Given the description of an element on the screen output the (x, y) to click on. 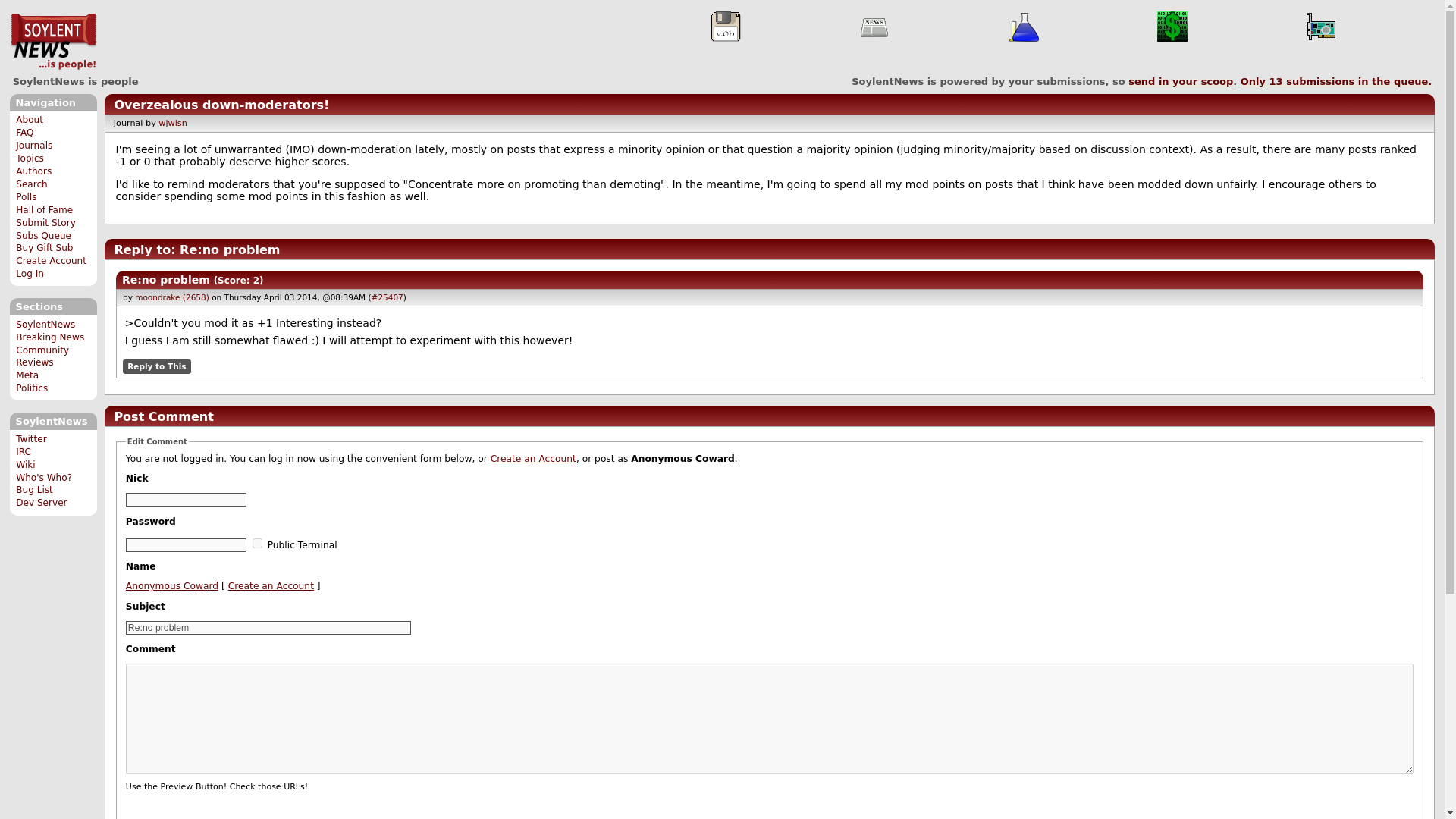
Meta (27, 375)
News (874, 26)
Breaking News (50, 337)
Subs Queue (43, 235)
SoylentNews (53, 41)
Hall of Fame (44, 209)
Software (725, 26)
Log In (29, 273)
wjwlsn (172, 122)
Science (1024, 26)
About (29, 119)
Who's Who? (43, 477)
Search (32, 184)
IRC (23, 451)
Authors (33, 171)
